Given the description of an element on the screen output the (x, y) to click on. 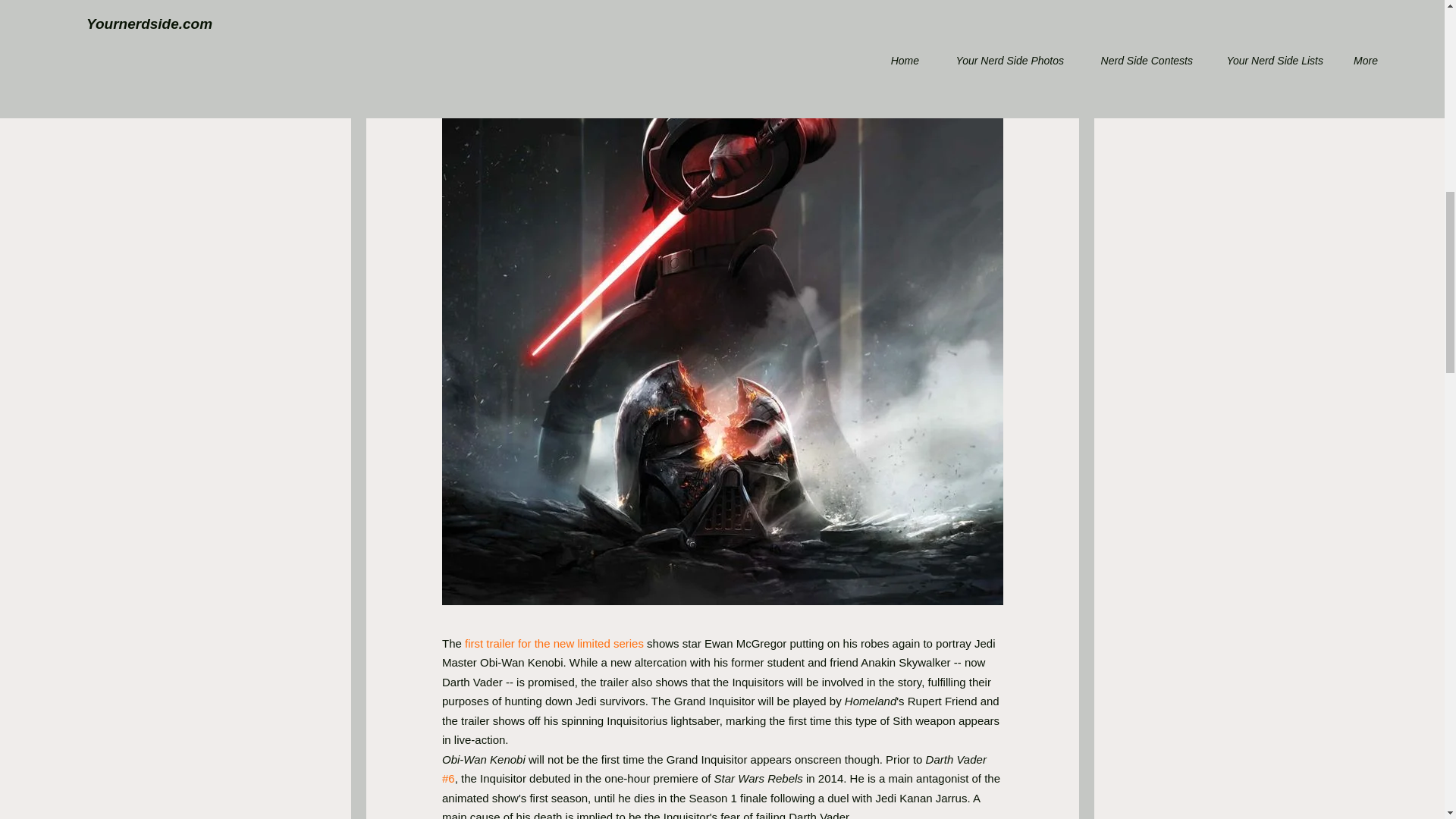
first trailer for the new limited series (553, 643)
